Given the description of an element on the screen output the (x, y) to click on. 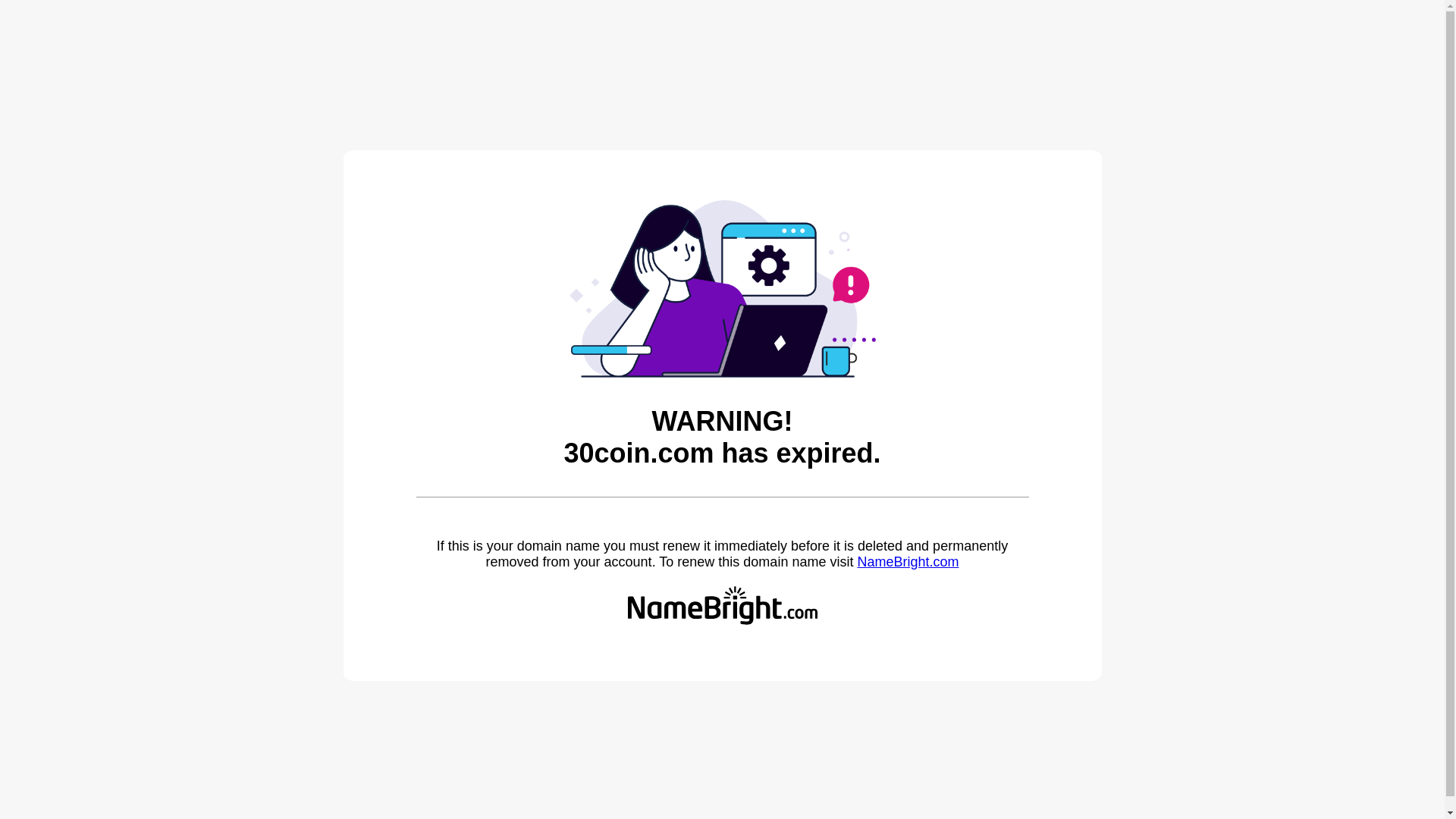
NameBright.com Element type: text (907, 561)
